Given the description of an element on the screen output the (x, y) to click on. 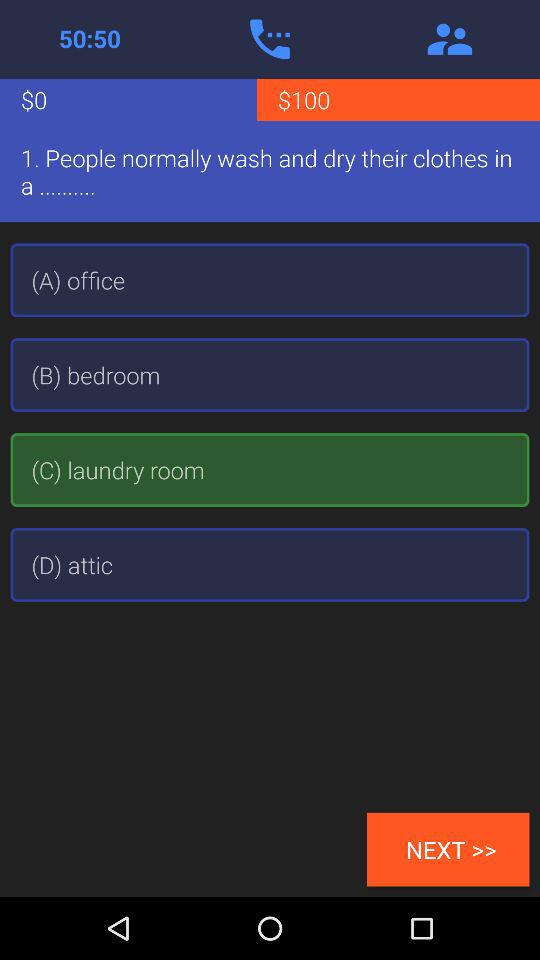
turn on the button at the bottom right corner (448, 849)
